Given the description of an element on the screen output the (x, y) to click on. 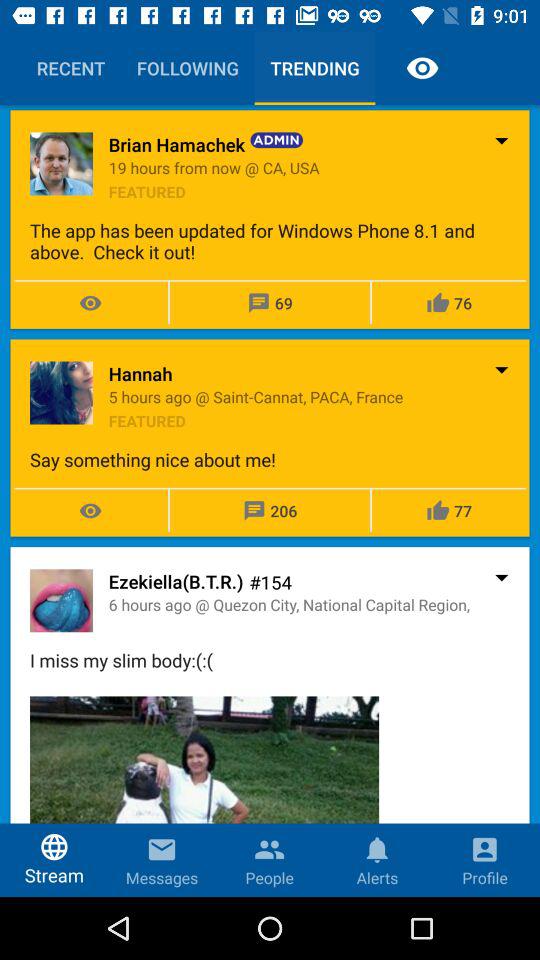
choose say something nice item (269, 459)
